Given the description of an element on the screen output the (x, y) to click on. 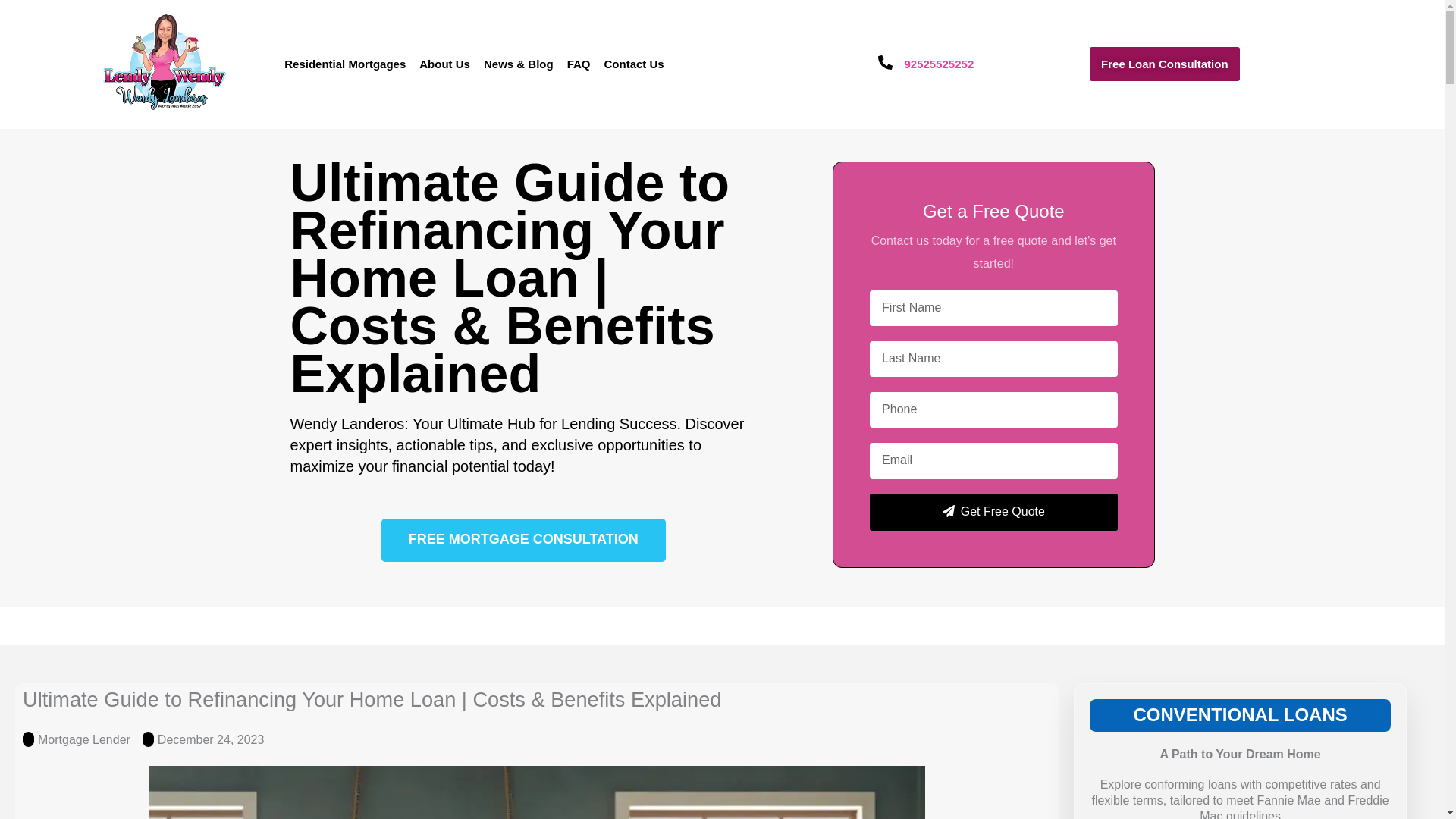
CONVENTIONAL LOANS (1239, 714)
Contact Us (632, 64)
Residential Mortgages (345, 64)
FREE MORTGAGE CONSULTATION (523, 539)
Get Free Quote (992, 511)
Free Loan Consultation (1164, 63)
About Us (444, 64)
